Given the description of an element on the screen output the (x, y) to click on. 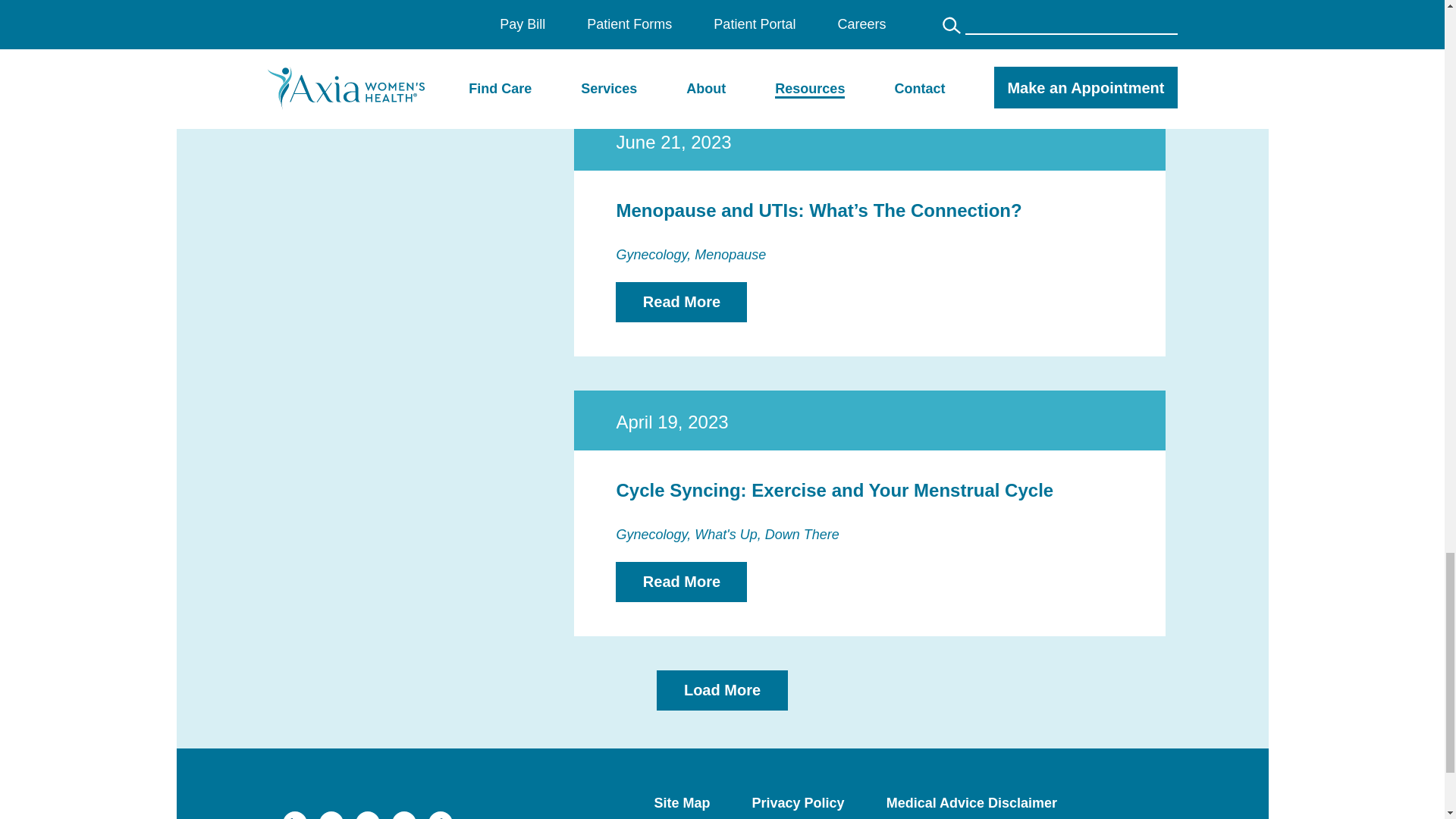
Read More (680, 581)
Read More (680, 301)
Read More (680, 22)
